Given the description of an element on the screen output the (x, y) to click on. 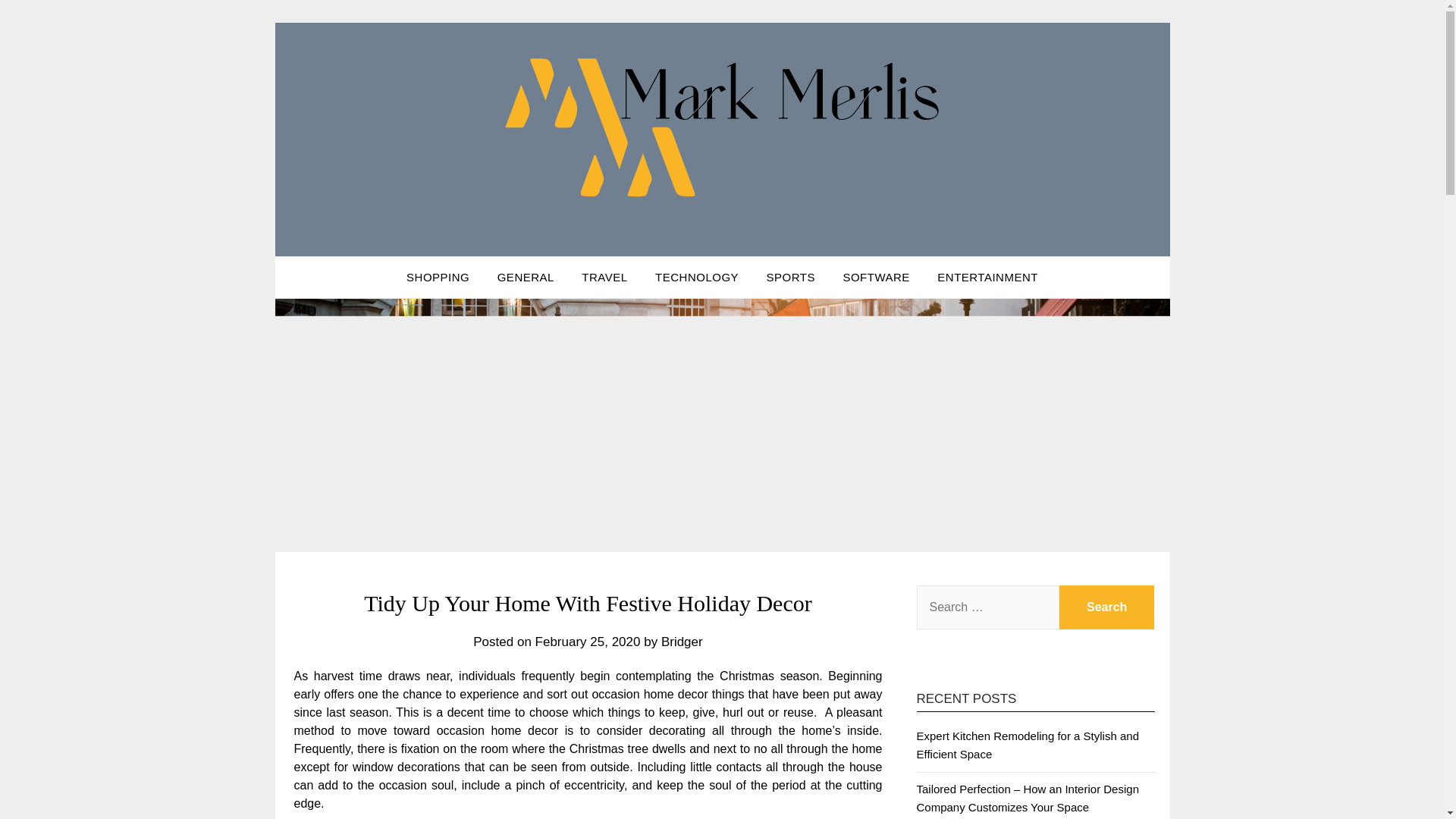
GENERAL (525, 277)
Search (1106, 607)
ENTERTAINMENT (986, 277)
TECHNOLOGY (697, 277)
Search (1106, 607)
Search (1106, 607)
SPORTS (790, 277)
Expert Kitchen Remodeling for a Stylish and Efficient Space (1026, 744)
Bridger (682, 641)
TRAVEL (604, 277)
